Given the description of an element on the screen output the (x, y) to click on. 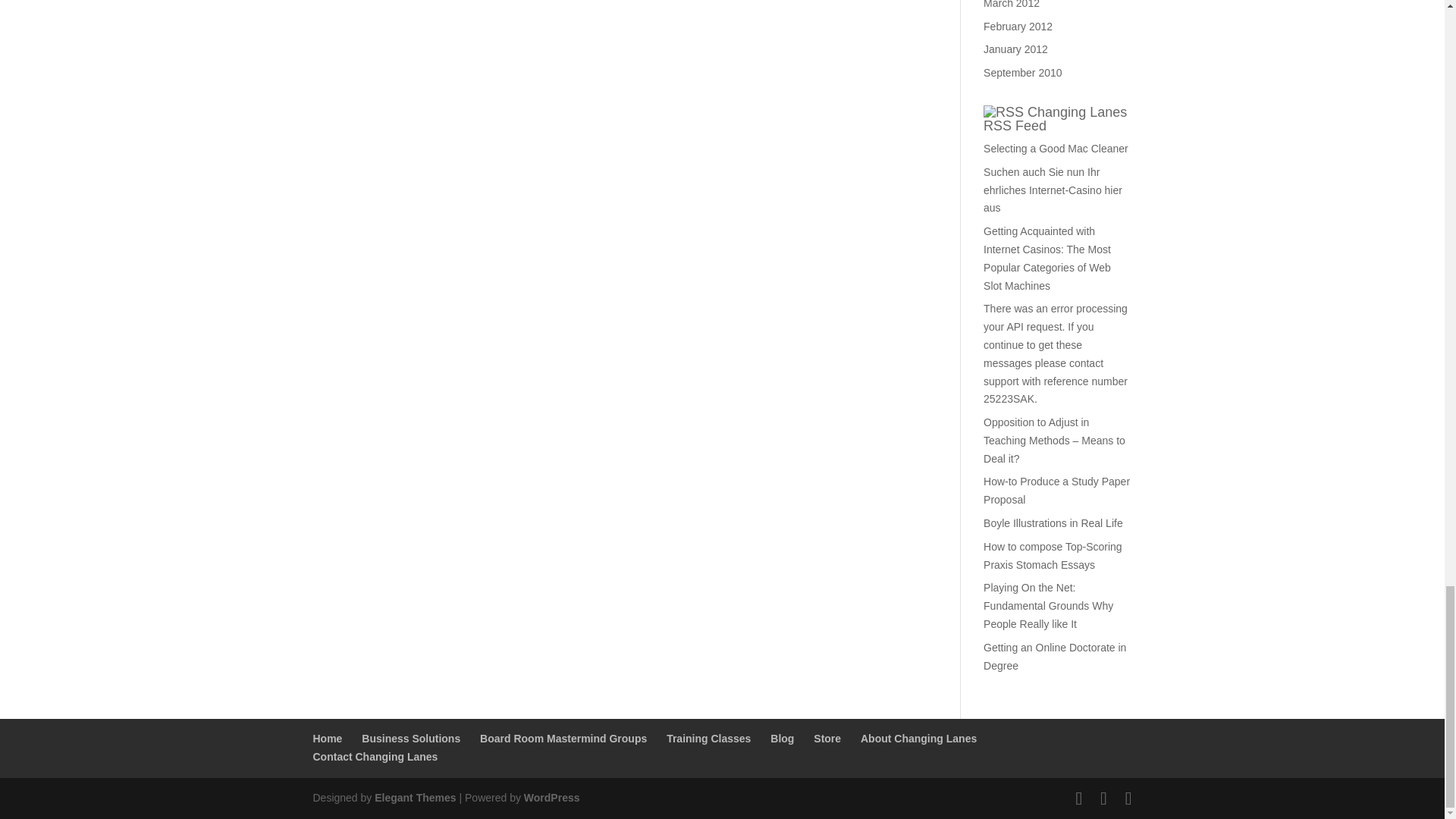
Premium WordPress Themes (414, 797)
